Given the description of an element on the screen output the (x, y) to click on. 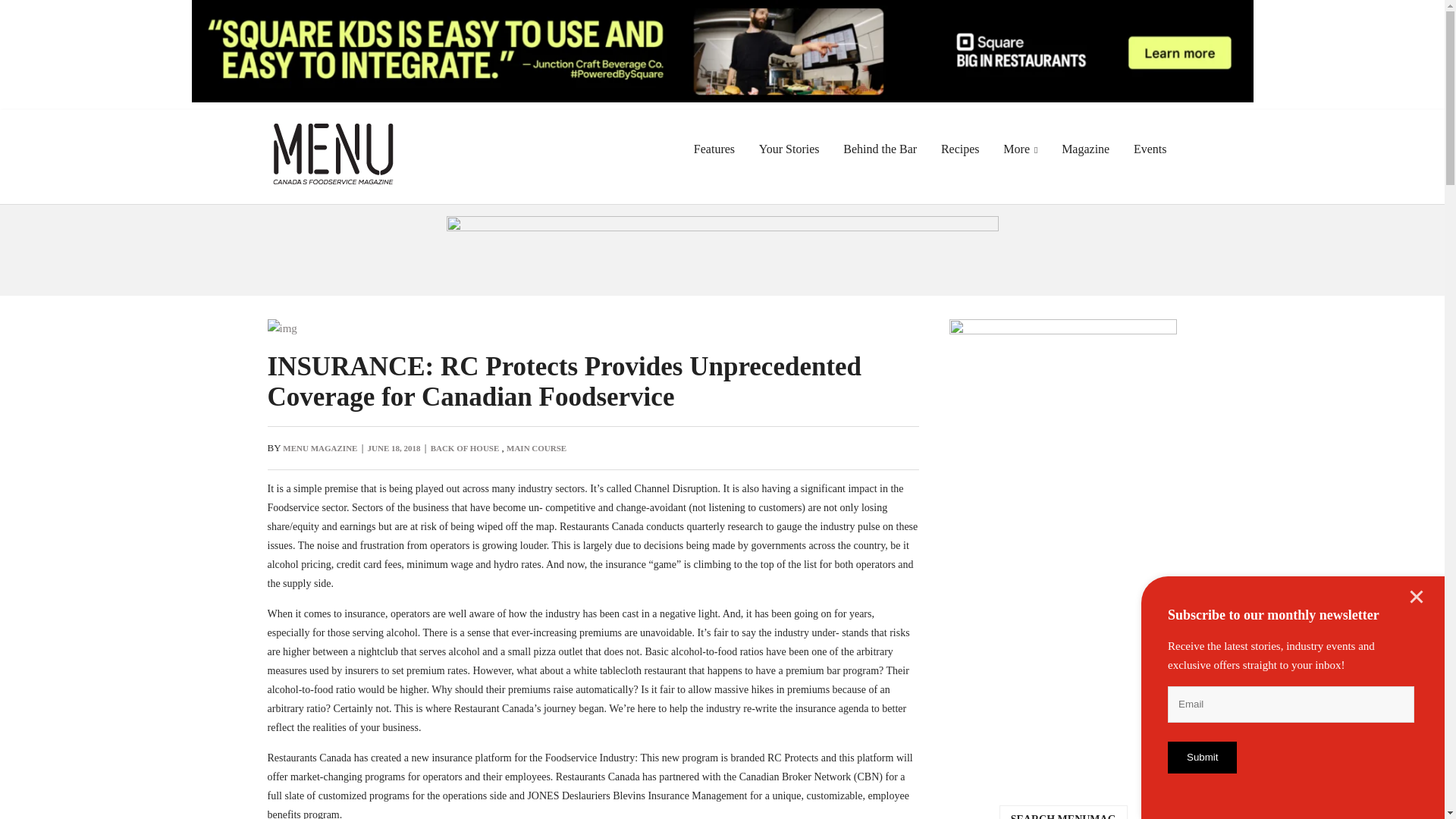
Events (1149, 148)
MENU MAGAZINE (319, 447)
MAIN COURSE (536, 447)
MENU (331, 133)
Your Stories (788, 148)
Recipes (960, 148)
Magazine (1085, 148)
More (1020, 148)
Posts by MENU Magazine (319, 447)
